Given the description of an element on the screen output the (x, y) to click on. 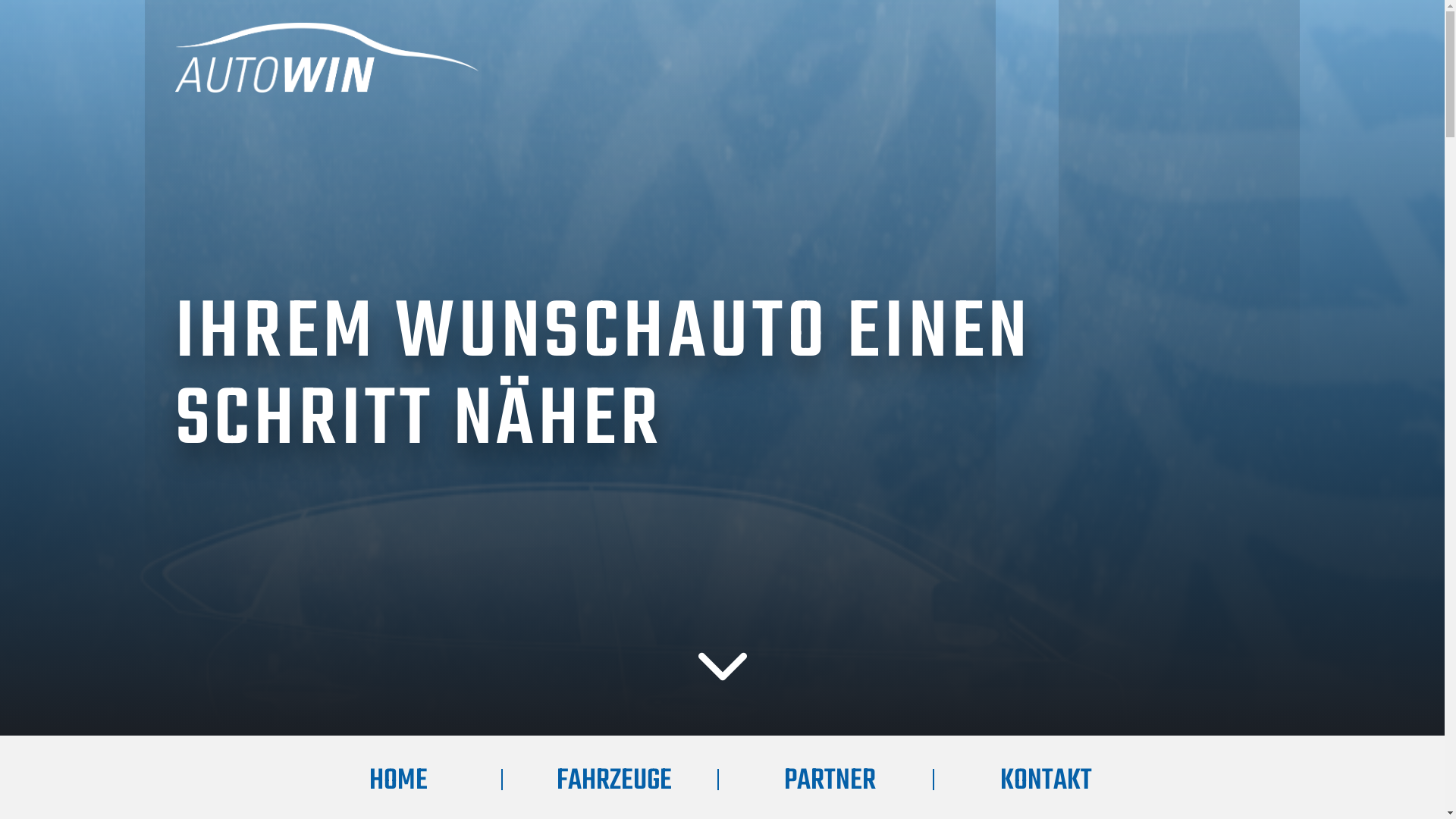
KONTAKT Element type: text (1046, 780)
PARTNER Element type: text (829, 780)
Autowin-Logo-weiss Element type: hover (325, 57)
FAHRZEUGE Element type: text (613, 780)
HOME Element type: text (398, 780)
arrow-down-sign-to-navigate Element type: hover (721, 666)
